Given the description of an element on the screen output the (x, y) to click on. 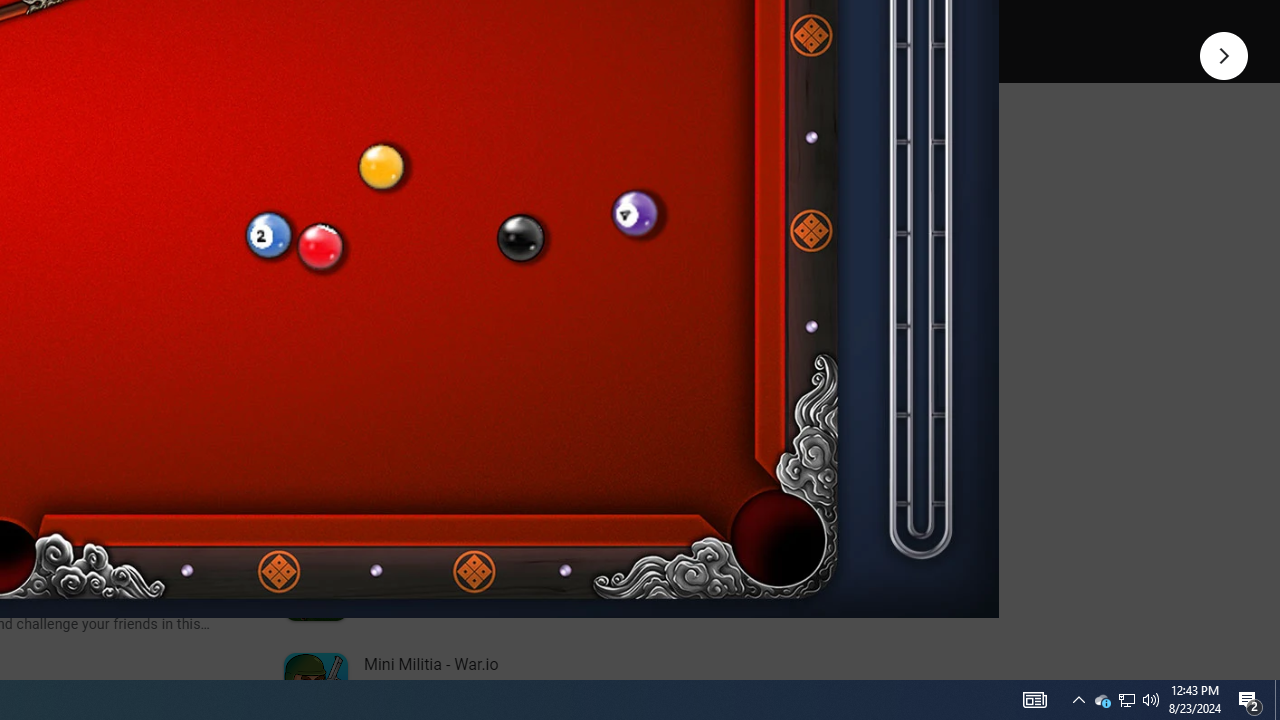
Play trailer (587, 24)
Scroll Next (212, 272)
Expand (441, 155)
See more information on More by Miniclip.com (530, 229)
